Given the description of an element on the screen output the (x, y) to click on. 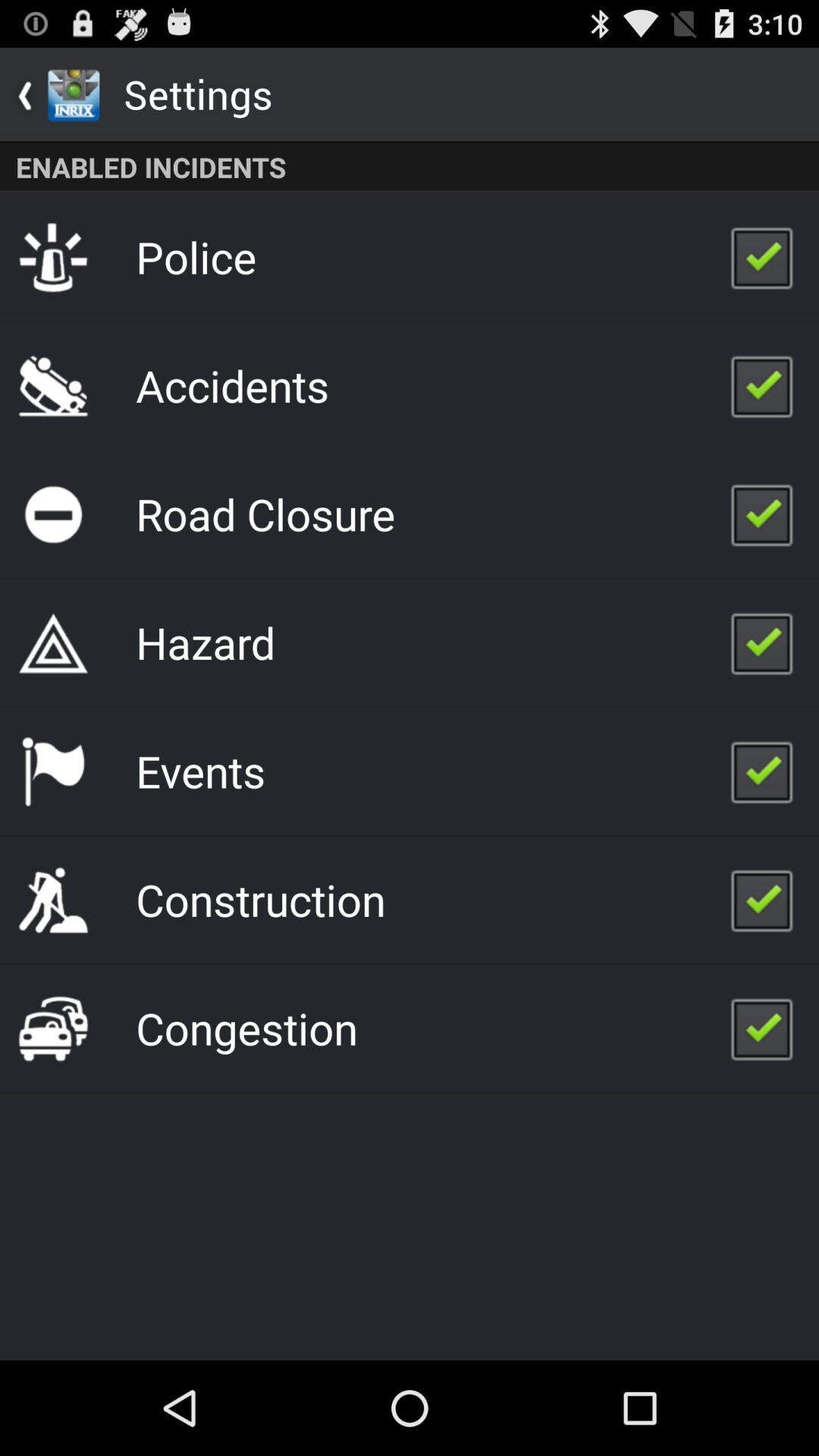
launch the app above hazard app (265, 513)
